Given the description of an element on the screen output the (x, y) to click on. 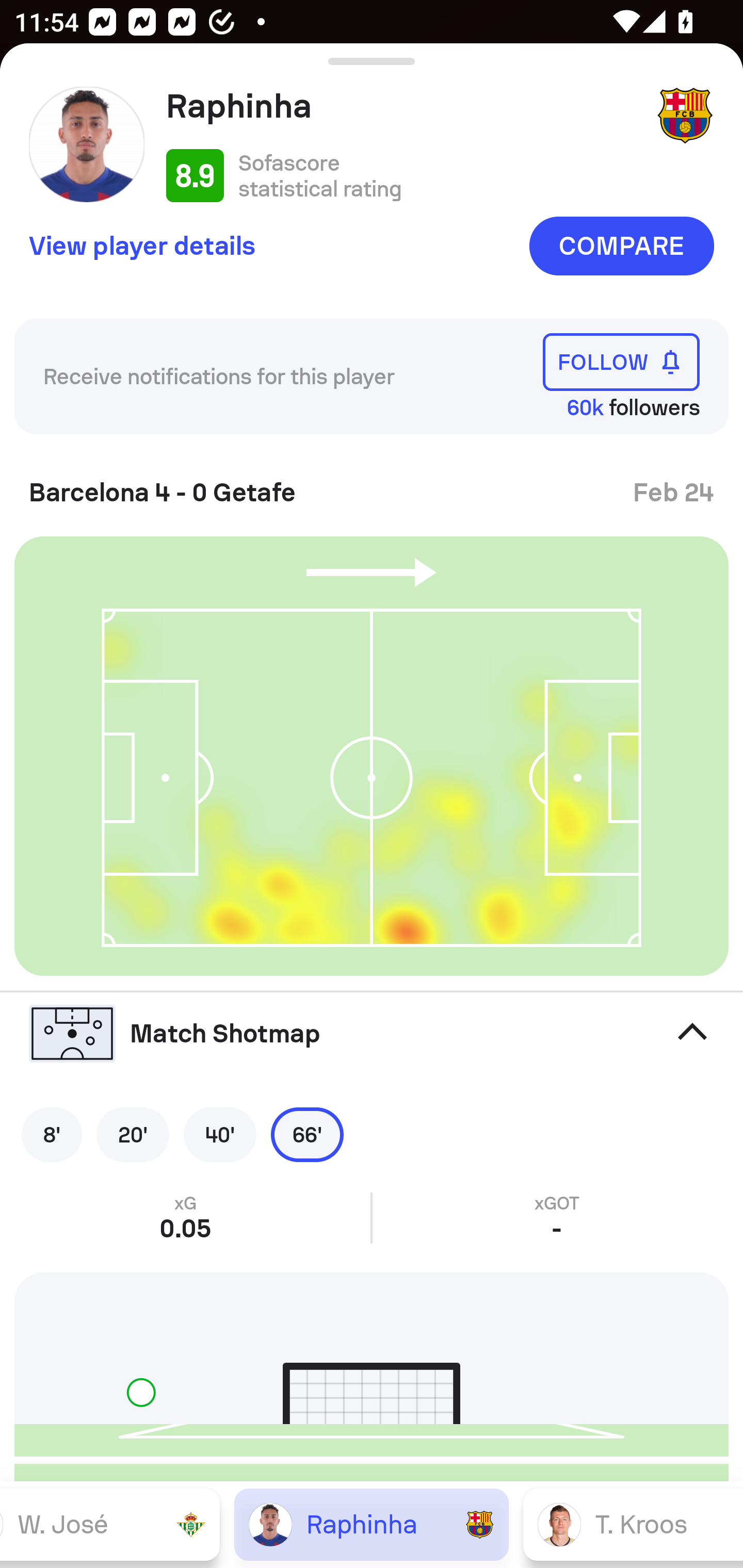
Raphinha (403, 105)
COMPARE (621, 245)
View player details (141, 245)
FOLLOW (621, 361)
Barcelona 4 - 0 Getafe Feb 24 (371, 485)
Match Shotmap (371, 1033)
8' (51, 1134)
20' (132, 1134)
40' (219, 1134)
66' (306, 1134)
W. José (109, 1524)
Raphinha (371, 1524)
T. Kroos (633, 1524)
